Given the description of an element on the screen output the (x, y) to click on. 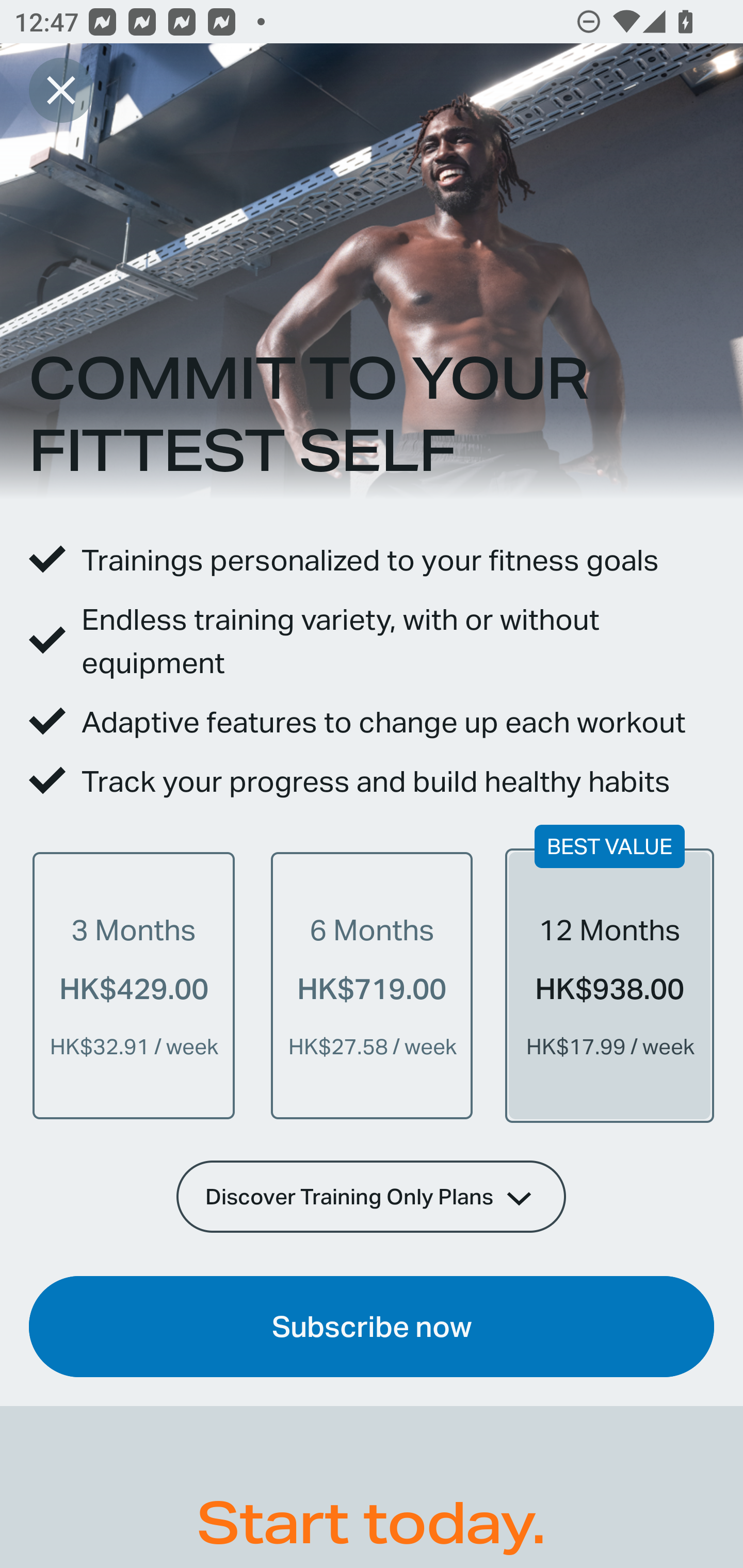
Close (60, 90)
3 Months HK$429.00 HK$32.91 / week (133, 985)
6 Months HK$719.00 HK$27.58 / week (371, 985)
12 Months HK$938.00 HK$17.99 / week (609, 985)
Discover Training Only Plans (371, 1196)
Subscribe now (371, 1326)
